Given the description of an element on the screen output the (x, y) to click on. 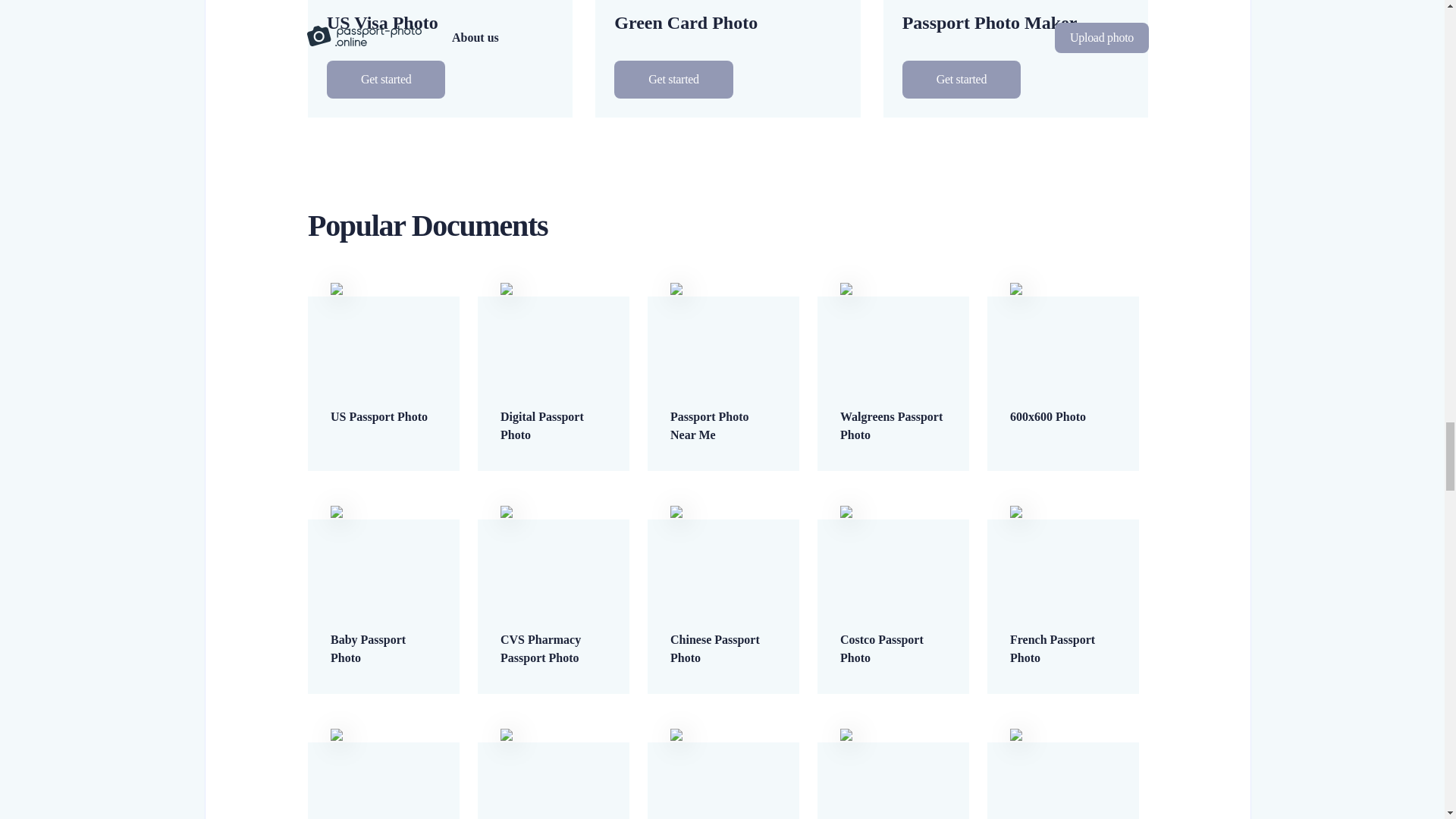
CVS Pharmacy Passport Photo (553, 621)
US Passport Photo (383, 388)
French Passport Photo (1063, 621)
Get started (961, 79)
Walgreens Passport Photo (893, 398)
UPS Passport Photo (722, 809)
US Visa Photo (439, 17)
Baby Passport Photo (383, 621)
USCIS Photos (893, 809)
Costco Passport Photo (893, 621)
OCI Photo (383, 809)
600x600 Photo (1063, 388)
Digital Passport Photo (553, 398)
Passport Photo Near Me (722, 398)
Green Card Photo (727, 17)
